Given the description of an element on the screen output the (x, y) to click on. 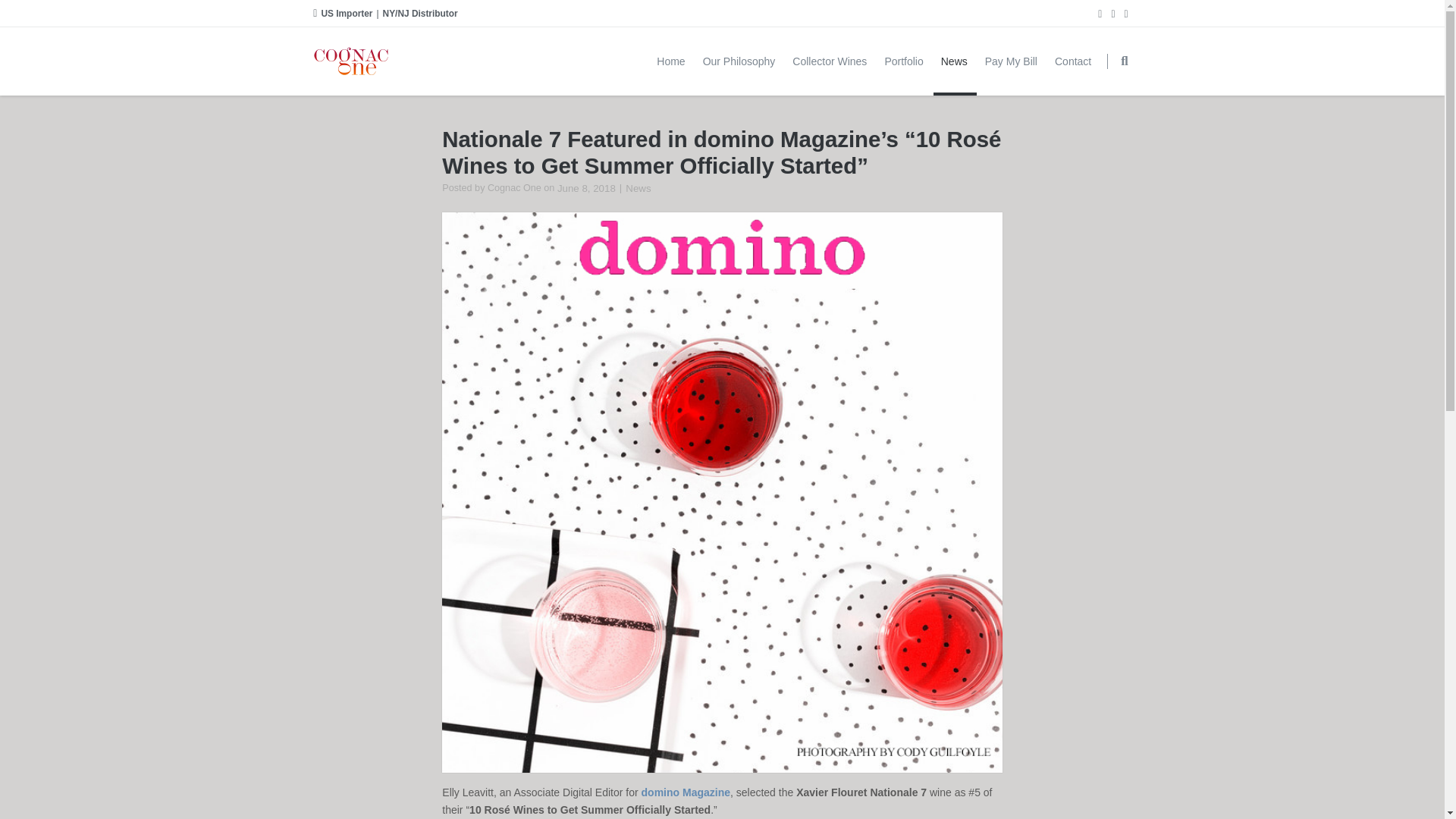
Posts by Cognac One (514, 187)
Collector Wines (830, 61)
Cognac One (514, 187)
News (638, 188)
domino Magazine (686, 792)
Our Philosophy (739, 61)
Pay My Bill (1011, 61)
